Given the description of an element on the screen output the (x, y) to click on. 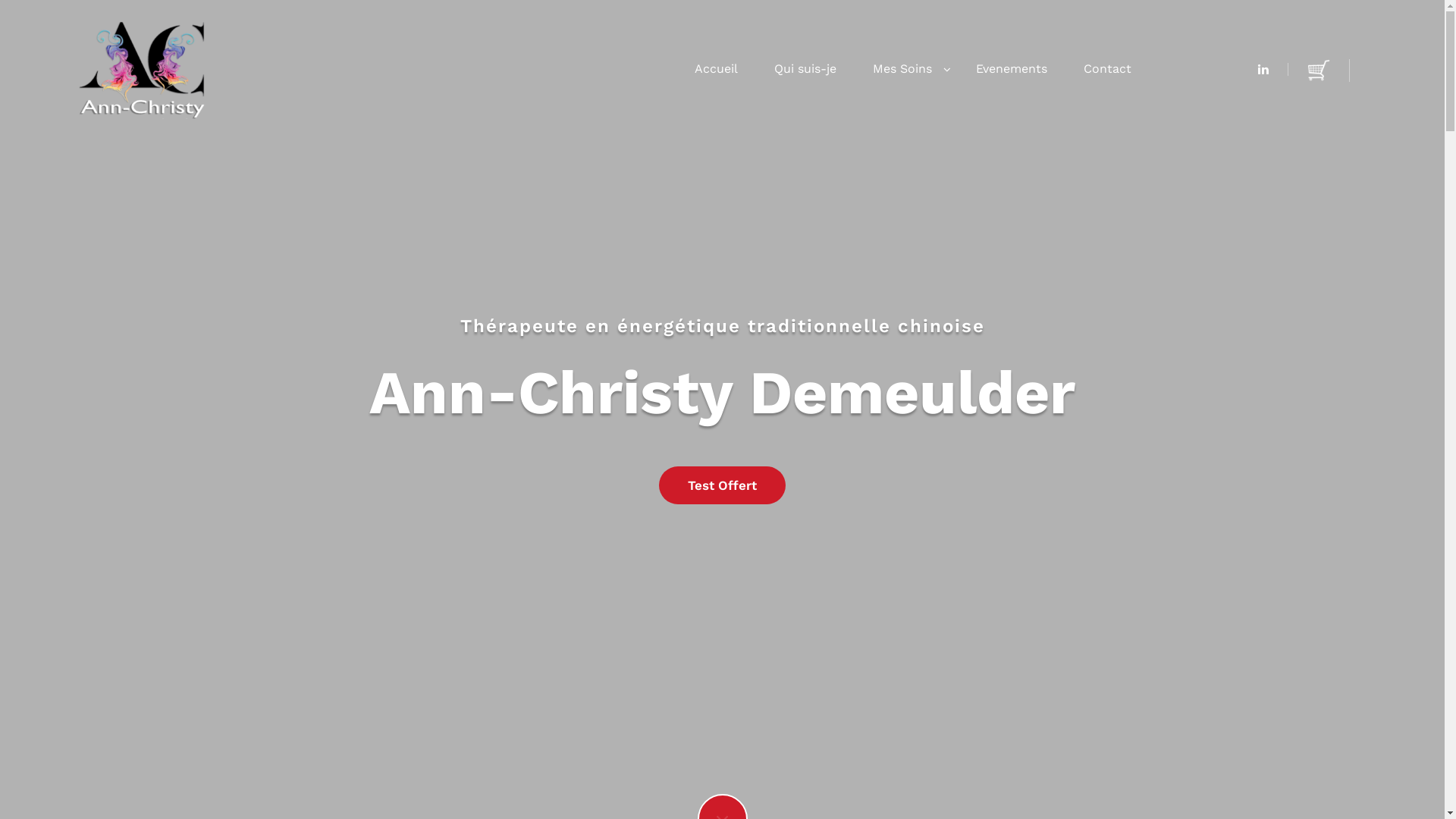
Evenements Element type: text (1011, 69)
Accueil Element type: text (715, 69)
Skip to content Element type: text (0, 0)
Test Offert Element type: text (721, 485)
Qui suis-je Element type: text (805, 69)
Mes Soins Element type: text (905, 69)
Contact Element type: text (1107, 69)
